Given the description of an element on the screen output the (x, y) to click on. 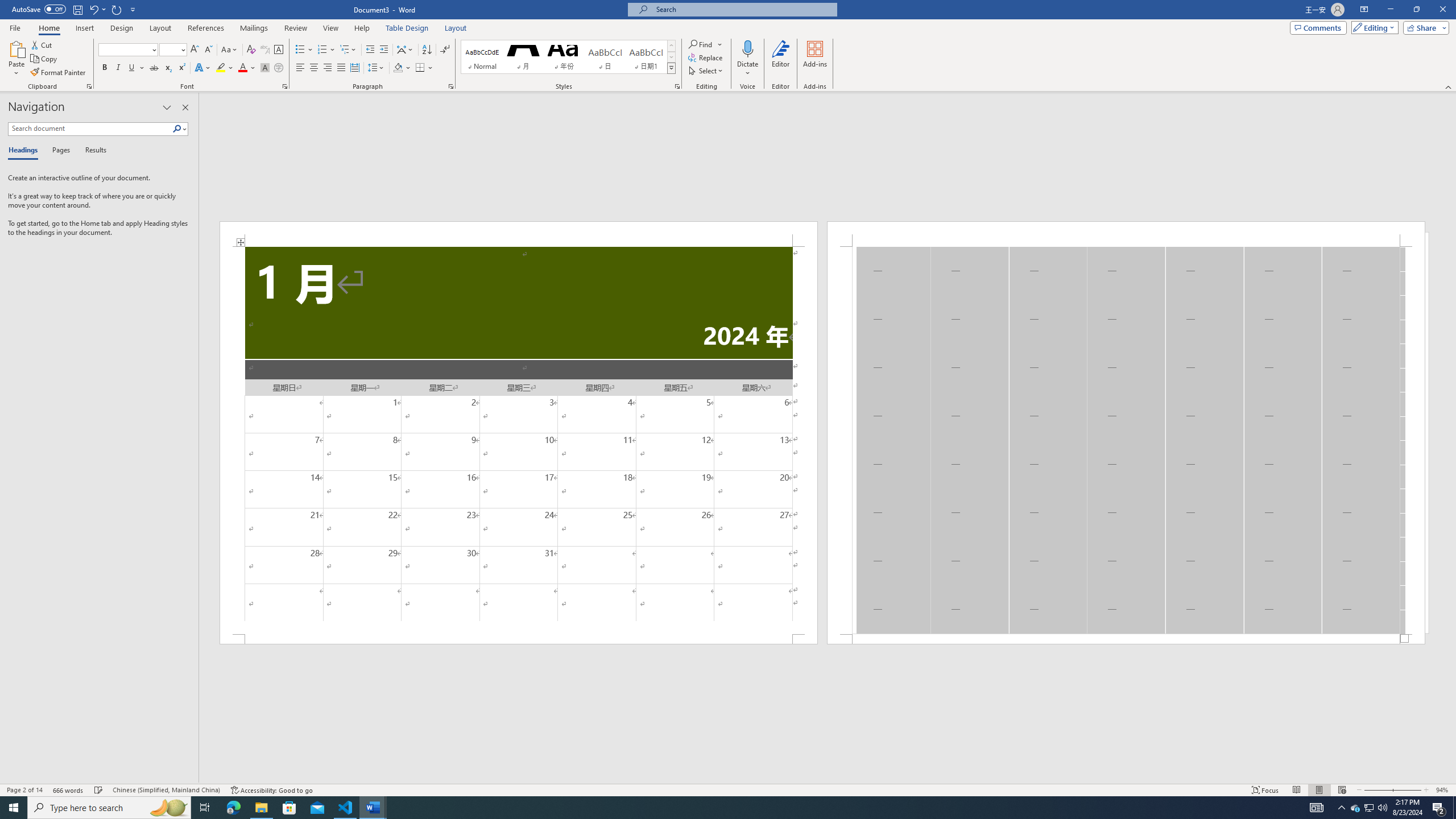
Grow Font (193, 49)
Mode (1372, 27)
Justify (340, 67)
Center (313, 67)
Insert (83, 28)
Class: MsoCommandBar (728, 789)
Class: NetUIScrollBar (827, 778)
Zoom Out (1377, 790)
Enclose Characters... (278, 67)
Format Painter (58, 72)
Multilevel List (347, 49)
Font... (285, 85)
